Given the description of an element on the screen output the (x, y) to click on. 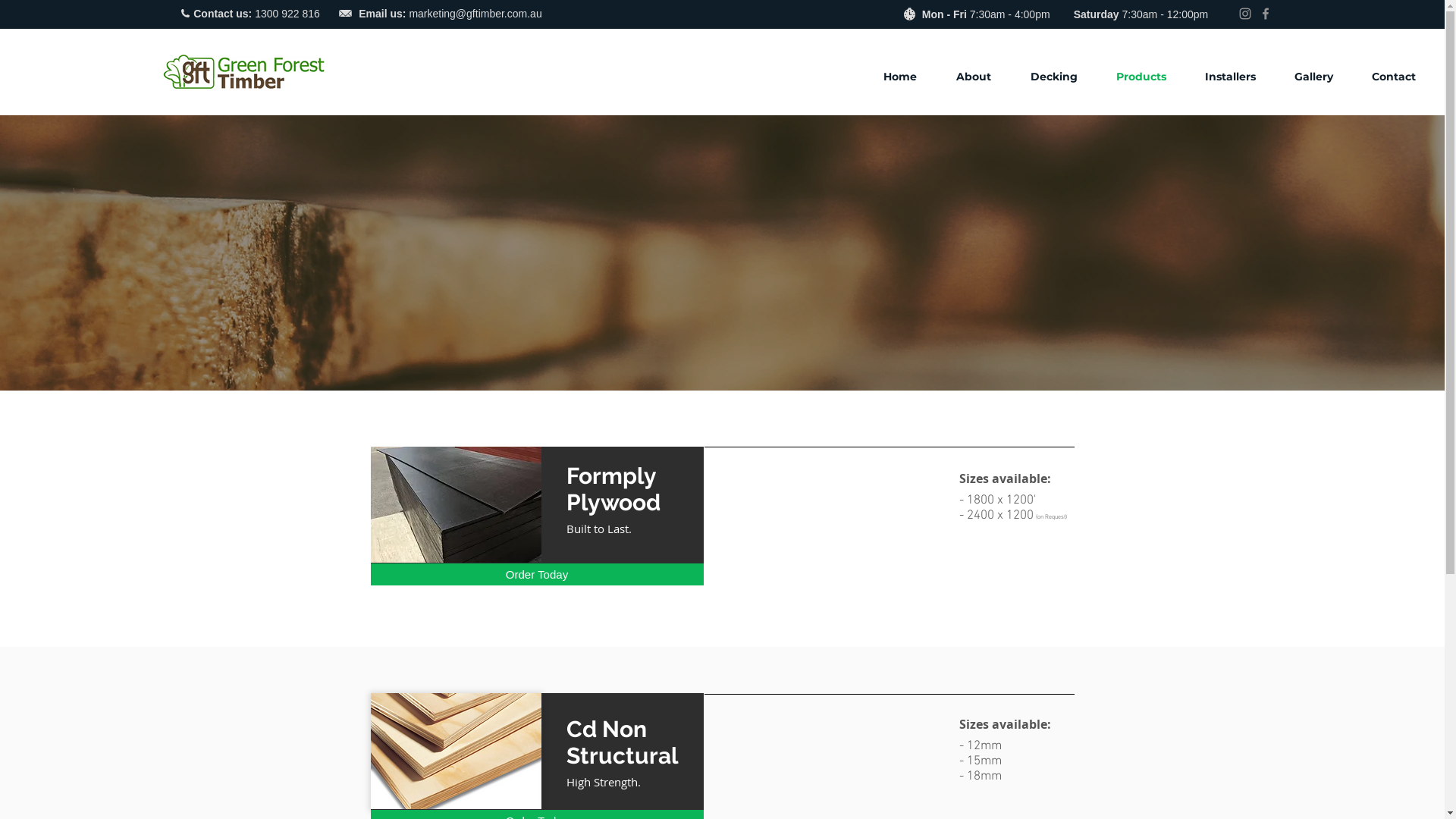
Decking Element type: text (1061, 76)
Products Element type: text (1148, 76)
Gallery Element type: text (1321, 76)
Installers Element type: text (1238, 76)
Email us: marketing@gftimber.com.au Element type: text (449, 13)
Green Forest Timber Element type: hover (243, 71)
Contact Element type: text (1401, 76)
Order Today Element type: text (536, 574)
Home Element type: text (908, 76)
Mon - Fri 7:30am - 4:00pm Element type: text (986, 13)
Saturday 7:30am - 12:00pm Element type: text (1140, 13)
About Element type: text (981, 76)
